Given the description of an element on the screen output the (x, y) to click on. 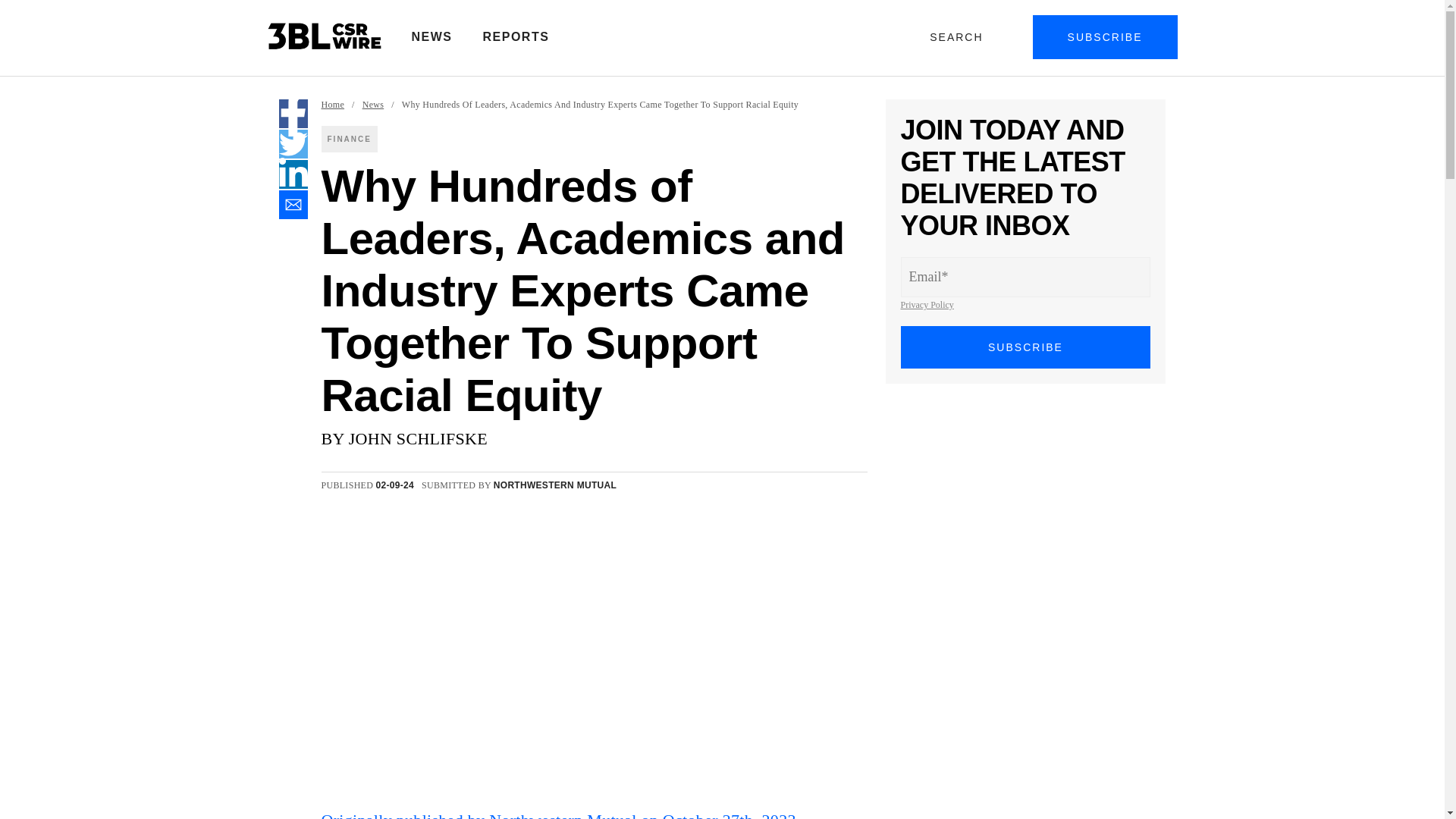
Home (333, 104)
News (373, 104)
FINANCE (349, 139)
Linkedin (293, 174)
SUBSCRIBE (1026, 346)
Twitter (293, 143)
SUBSCRIBE (1104, 36)
Privacy Policy (927, 304)
Facebook (293, 113)
